Given the description of an element on the screen output the (x, y) to click on. 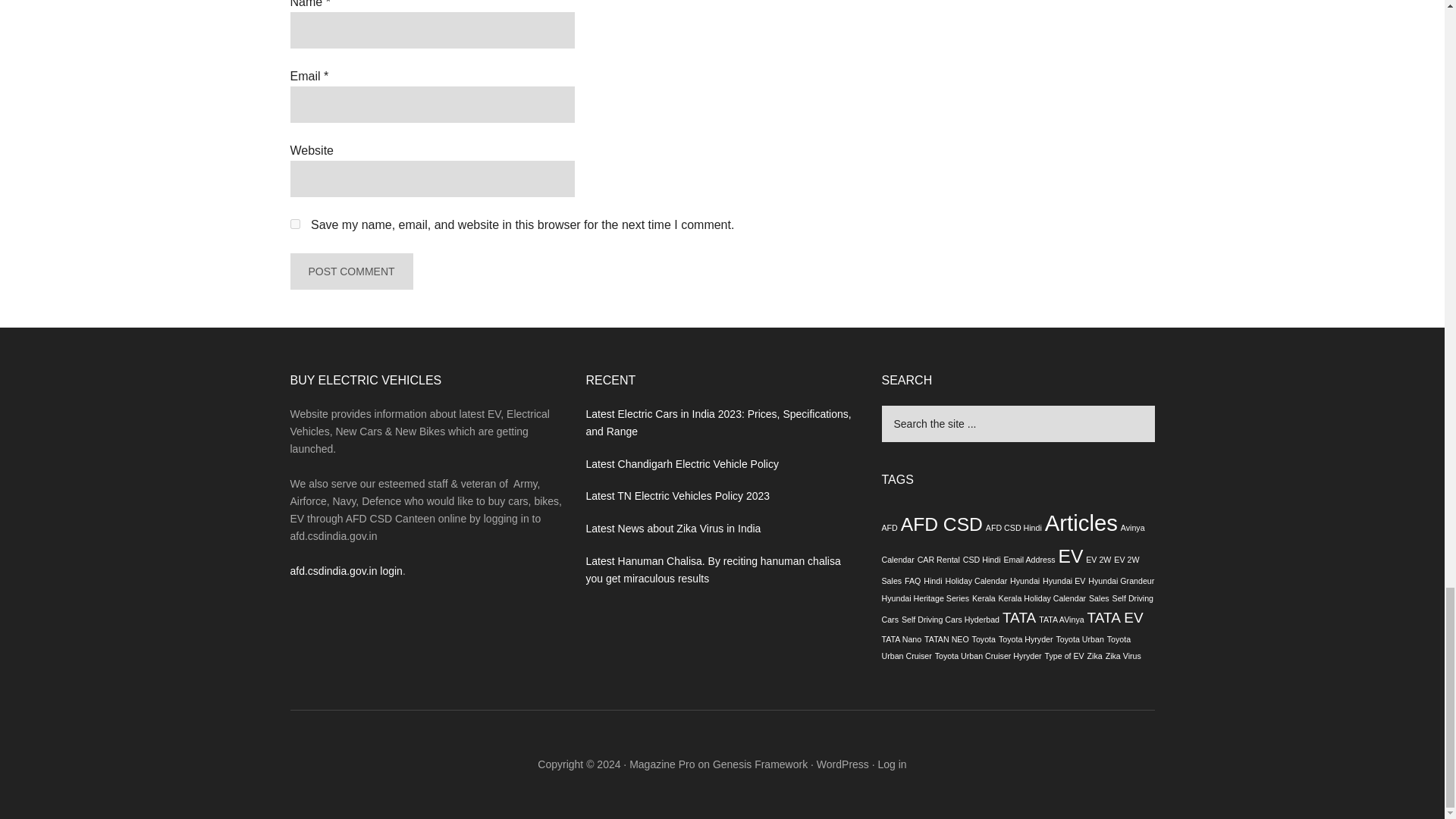
Post Comment (350, 271)
yes (294, 224)
